Given the description of an element on the screen output the (x, y) to click on. 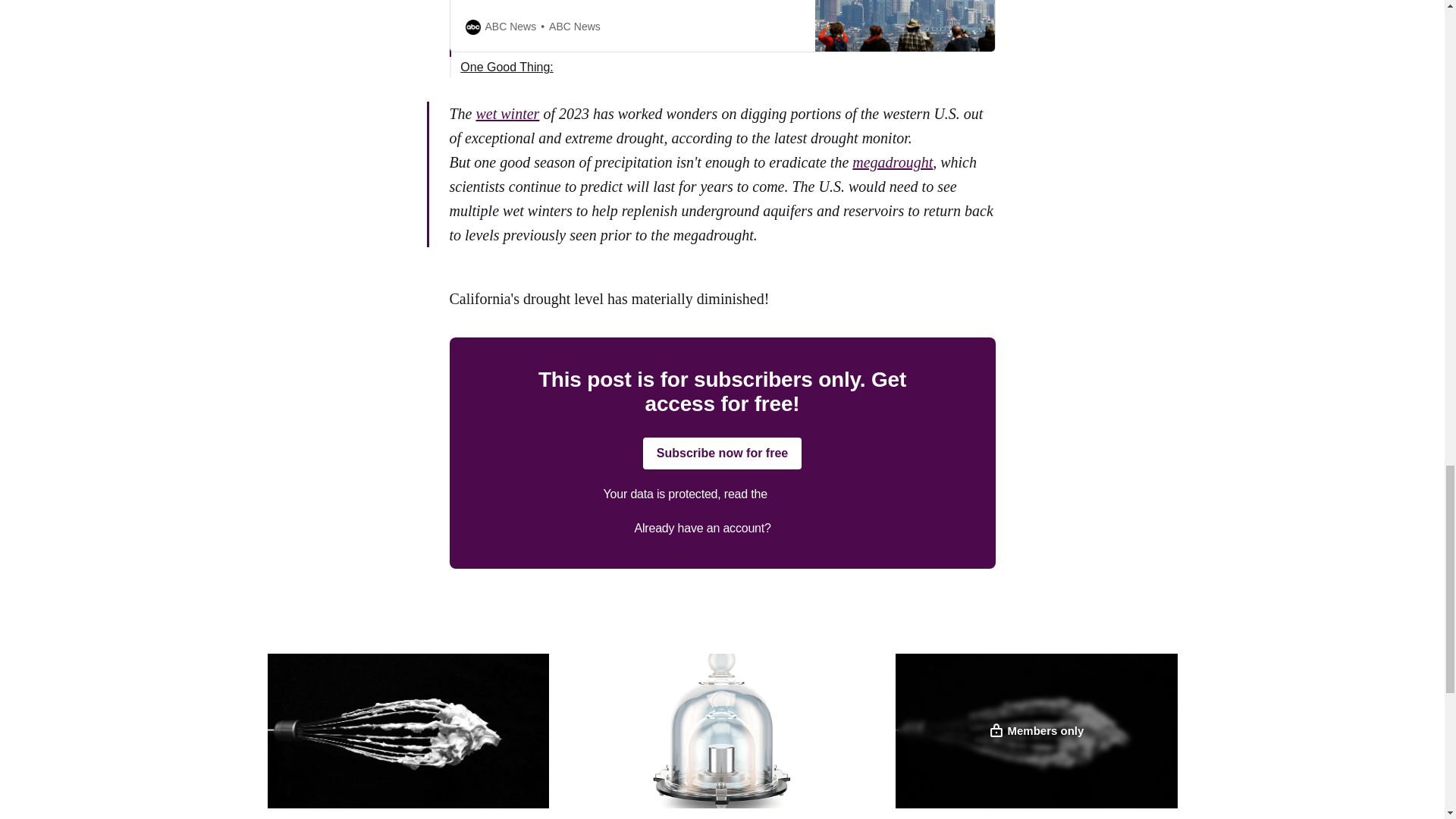
megadrought (892, 161)
Subscribe now for free (722, 453)
privacy policy (805, 493)
wet winter (508, 113)
Sign in (792, 527)
Members only (1035, 730)
